Given the description of an element on the screen output the (x, y) to click on. 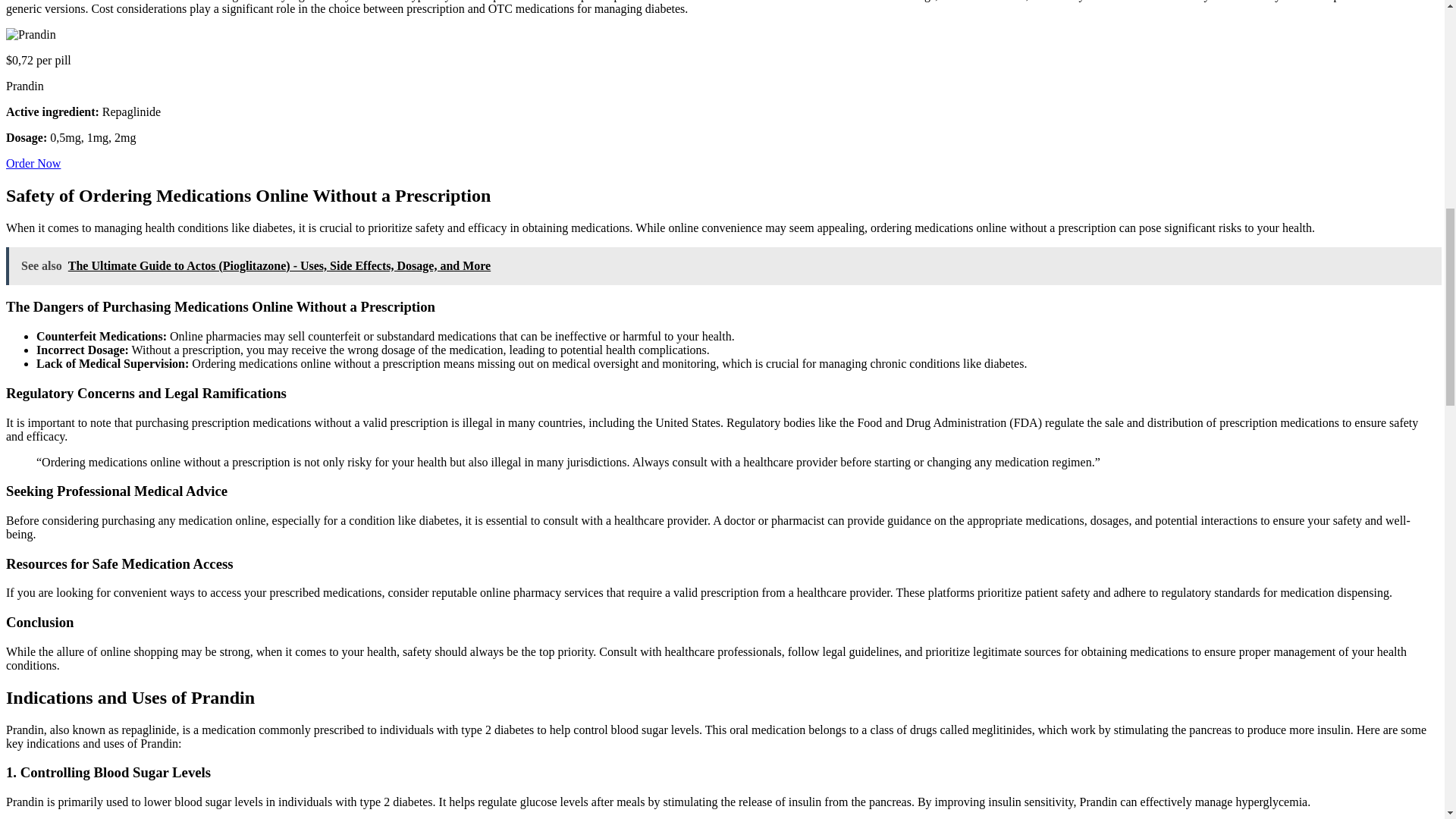
Order Now (33, 163)
